Given the description of an element on the screen output the (x, y) to click on. 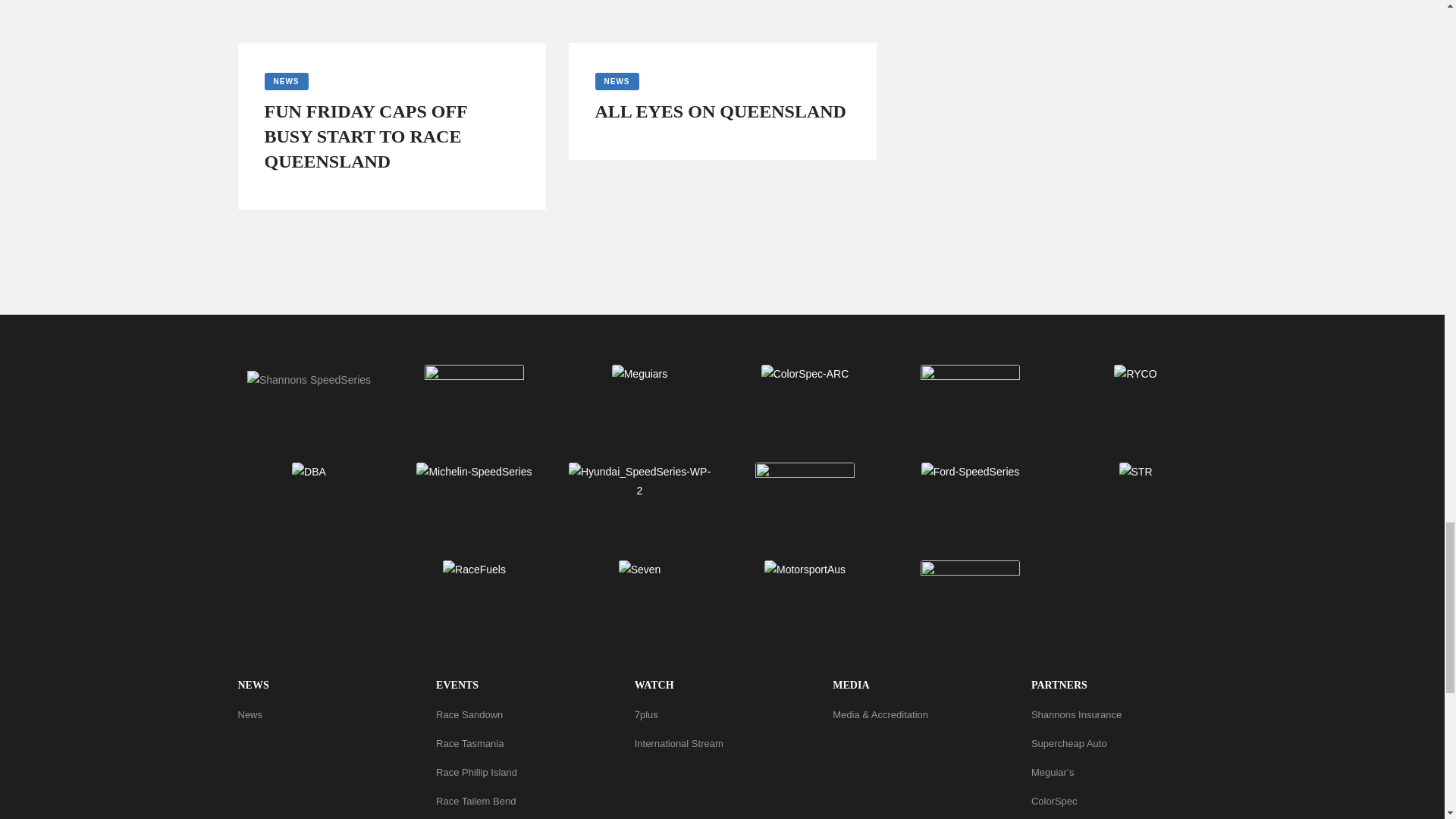
ARG-WP (970, 587)
DBA (309, 471)
MotorsportAus (804, 569)
WP-RacerIndustries (970, 392)
Seven (639, 569)
RaceFuels (473, 569)
ToolPRO (804, 489)
Michelin-SpeedSeries (473, 471)
SCA-WP (474, 392)
RYCO (1134, 374)
